Given the description of an element on the screen output the (x, y) to click on. 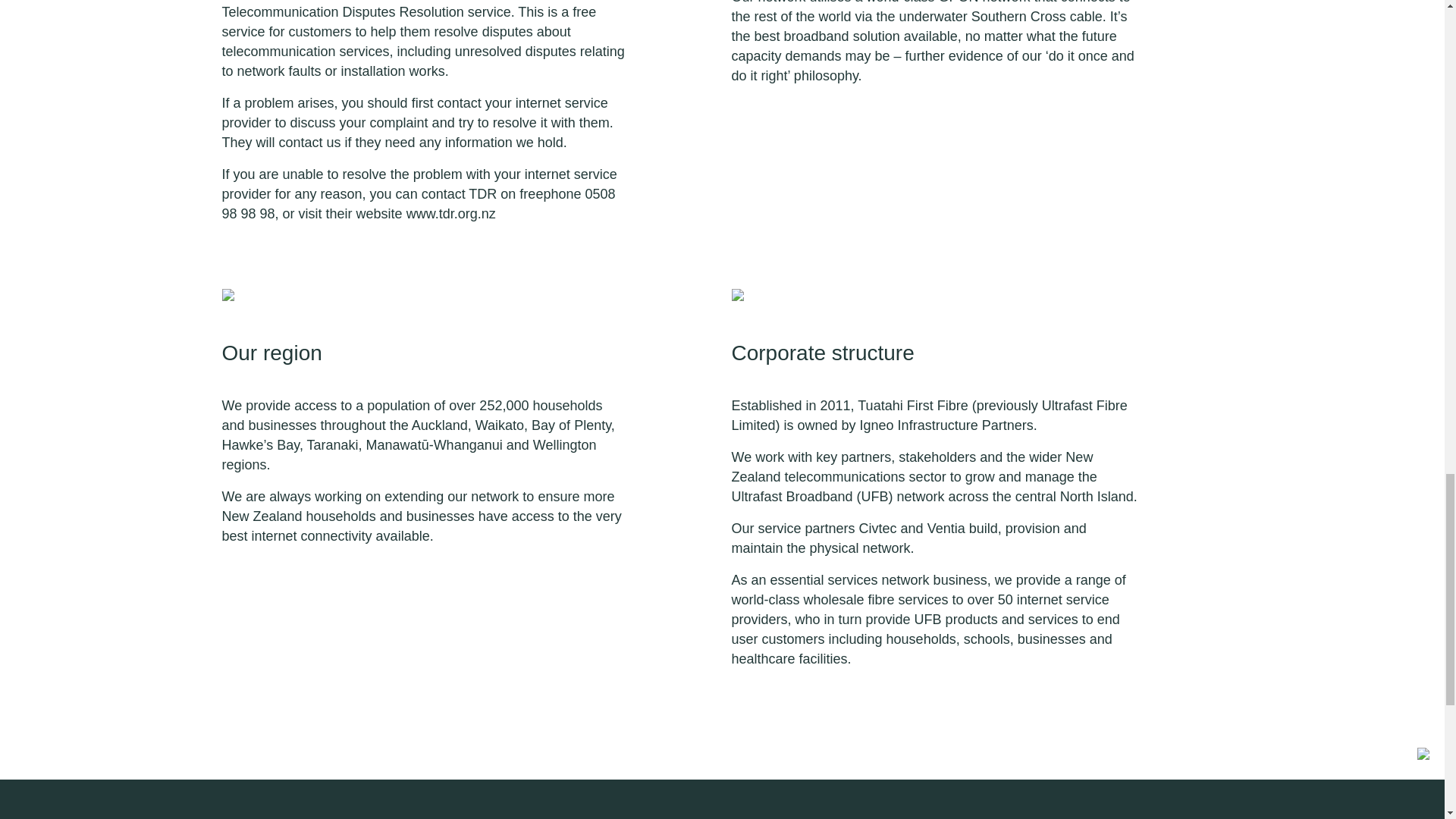
www.tdr.org.nz (451, 213)
Civtec (877, 527)
Ventia  (948, 527)
0508 98 98 98 (417, 203)
